Given the description of an element on the screen output the (x, y) to click on. 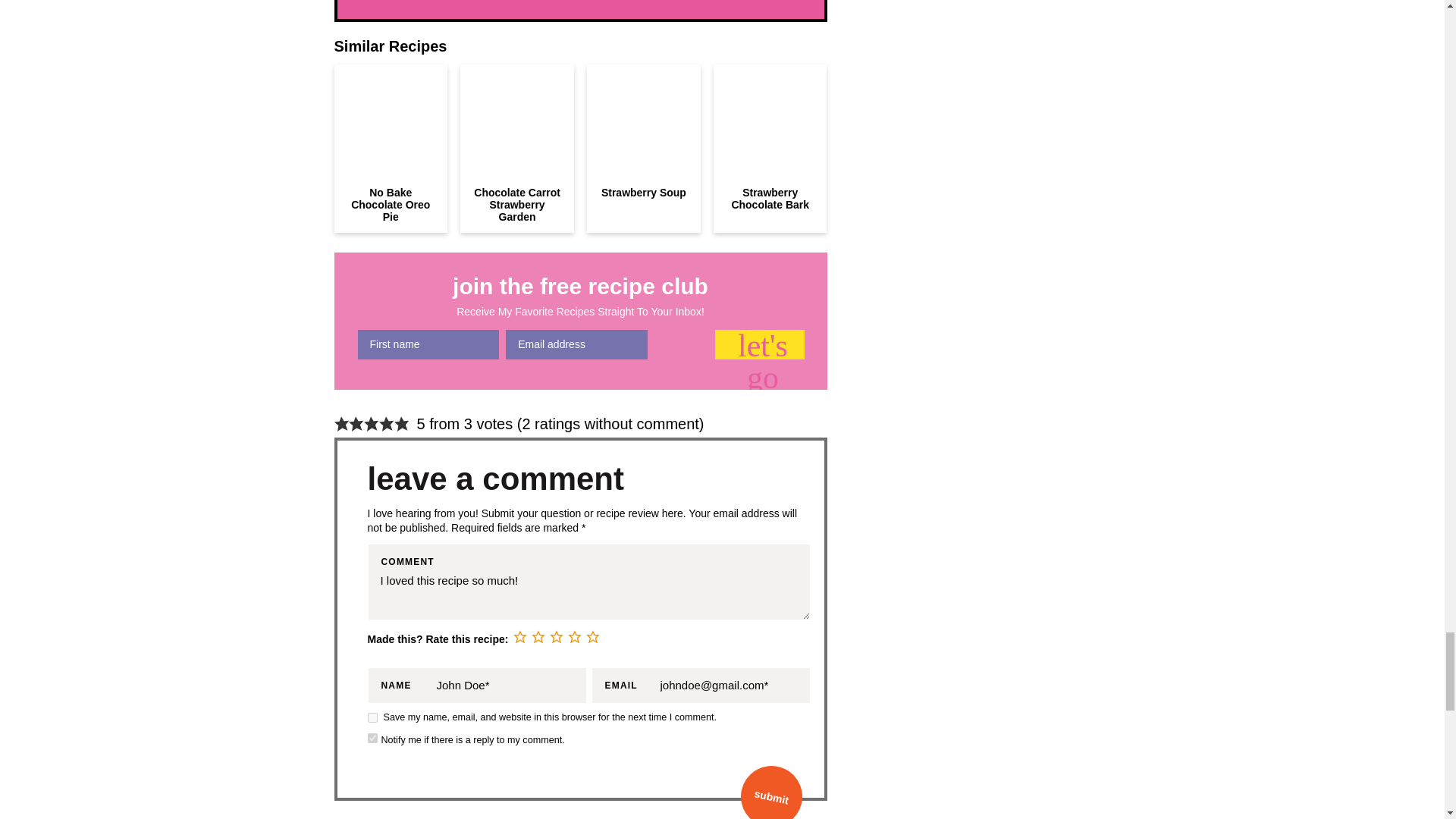
on (371, 737)
yes (371, 717)
Submit (765, 789)
